Given the description of an element on the screen output the (x, y) to click on. 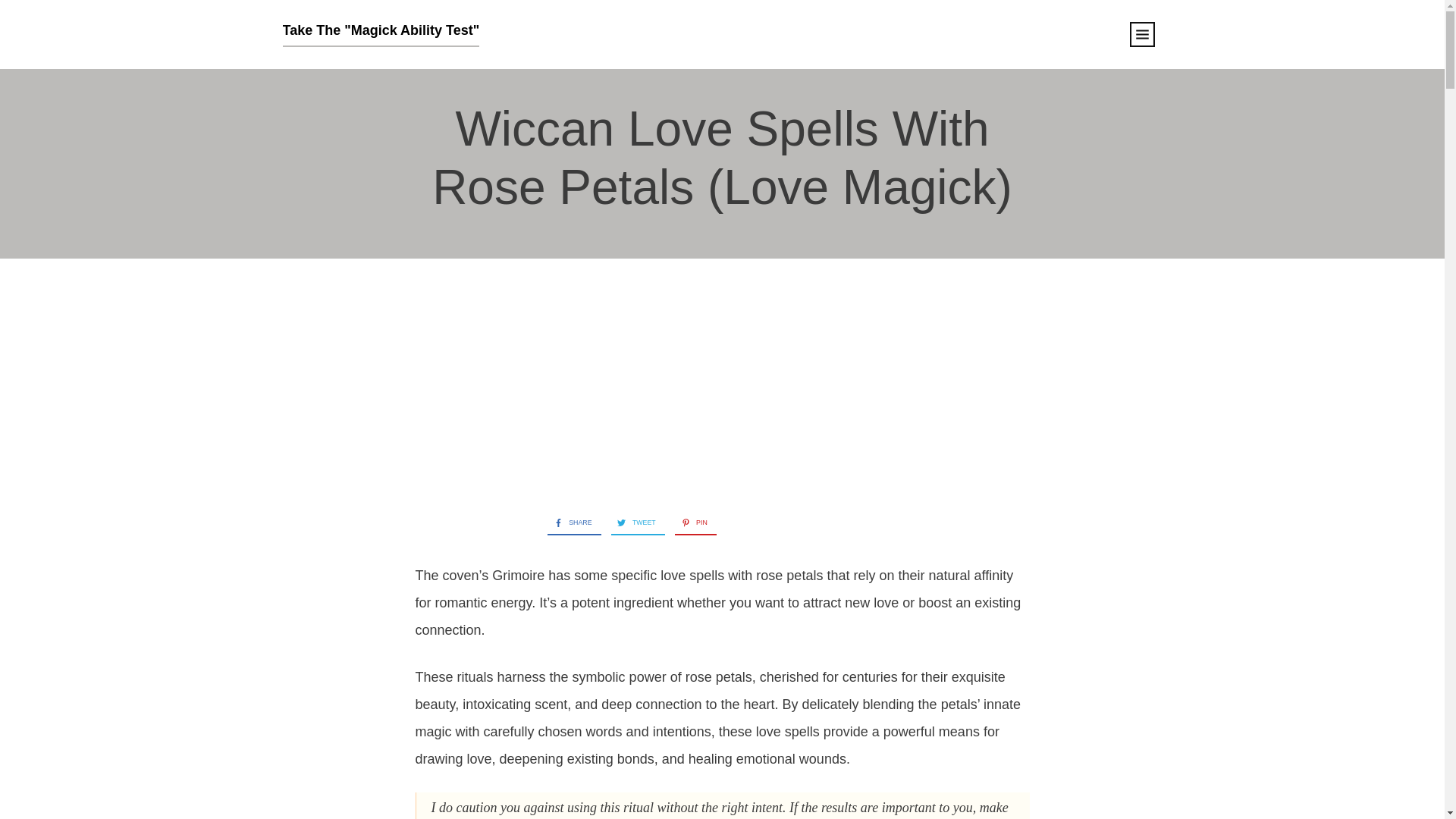
PIN (691, 522)
TWEET (633, 522)
SHARE (569, 522)
TakE The "Magick Ability Test" (380, 34)
